Given the description of an element on the screen output the (x, y) to click on. 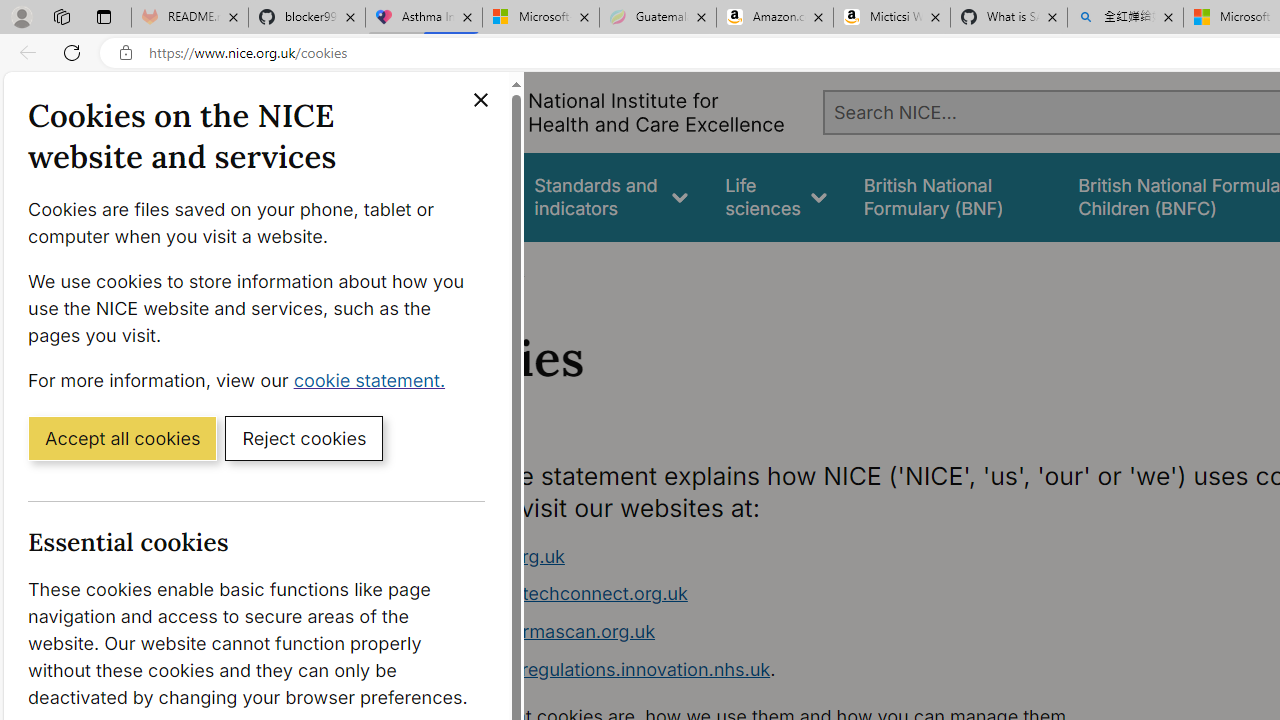
www.healthtechconnect.org.uk (554, 593)
Close cookie banner (480, 99)
www.ukpharmascan.org.uk (538, 631)
www.ukpharmascan.org.uk (796, 632)
false (952, 196)
www.nice.org.uk (492, 556)
